Given the description of an element on the screen output the (x, y) to click on. 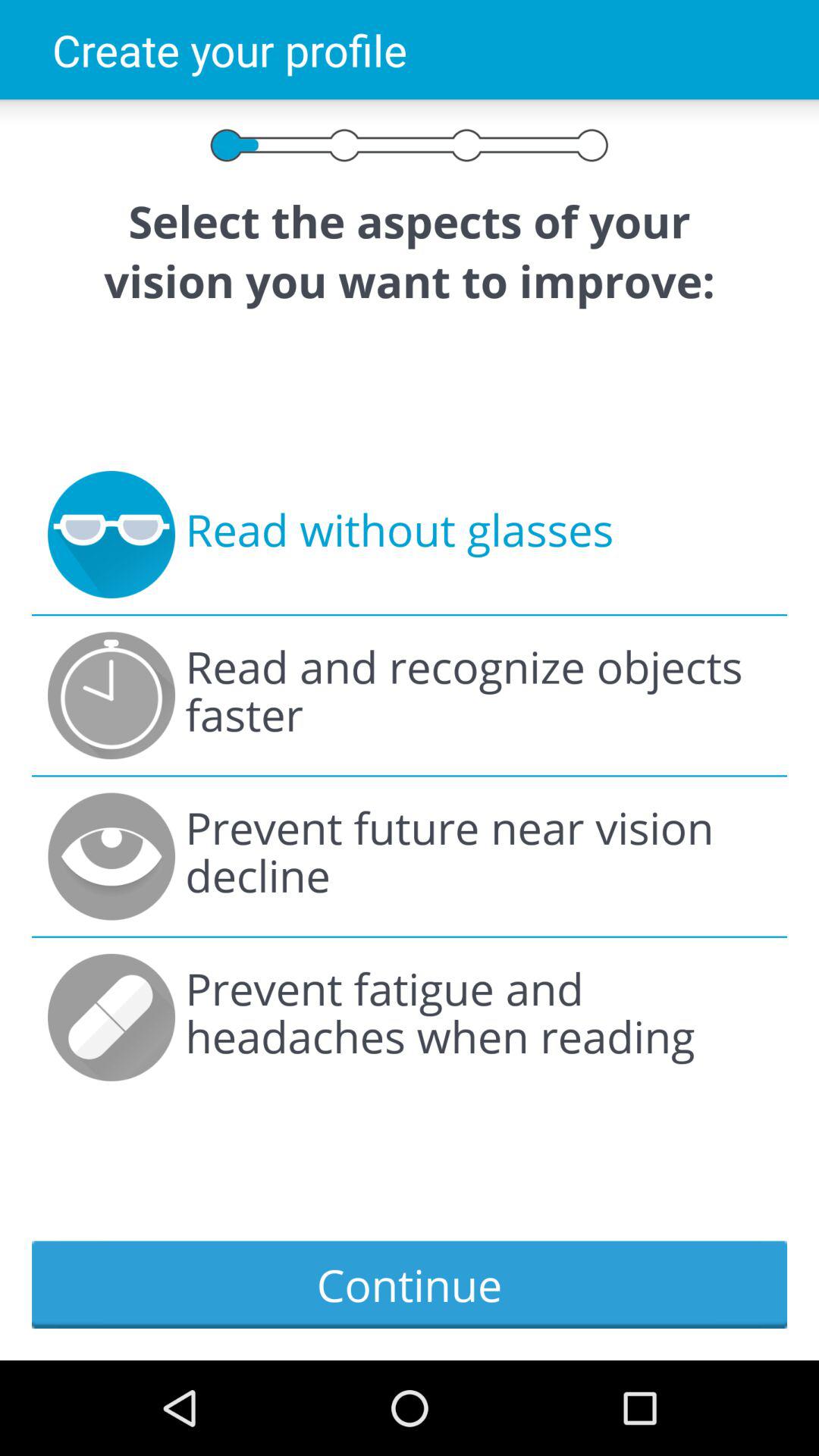
click the prevent fatigue and (478, 1017)
